Given the description of an element on the screen output the (x, y) to click on. 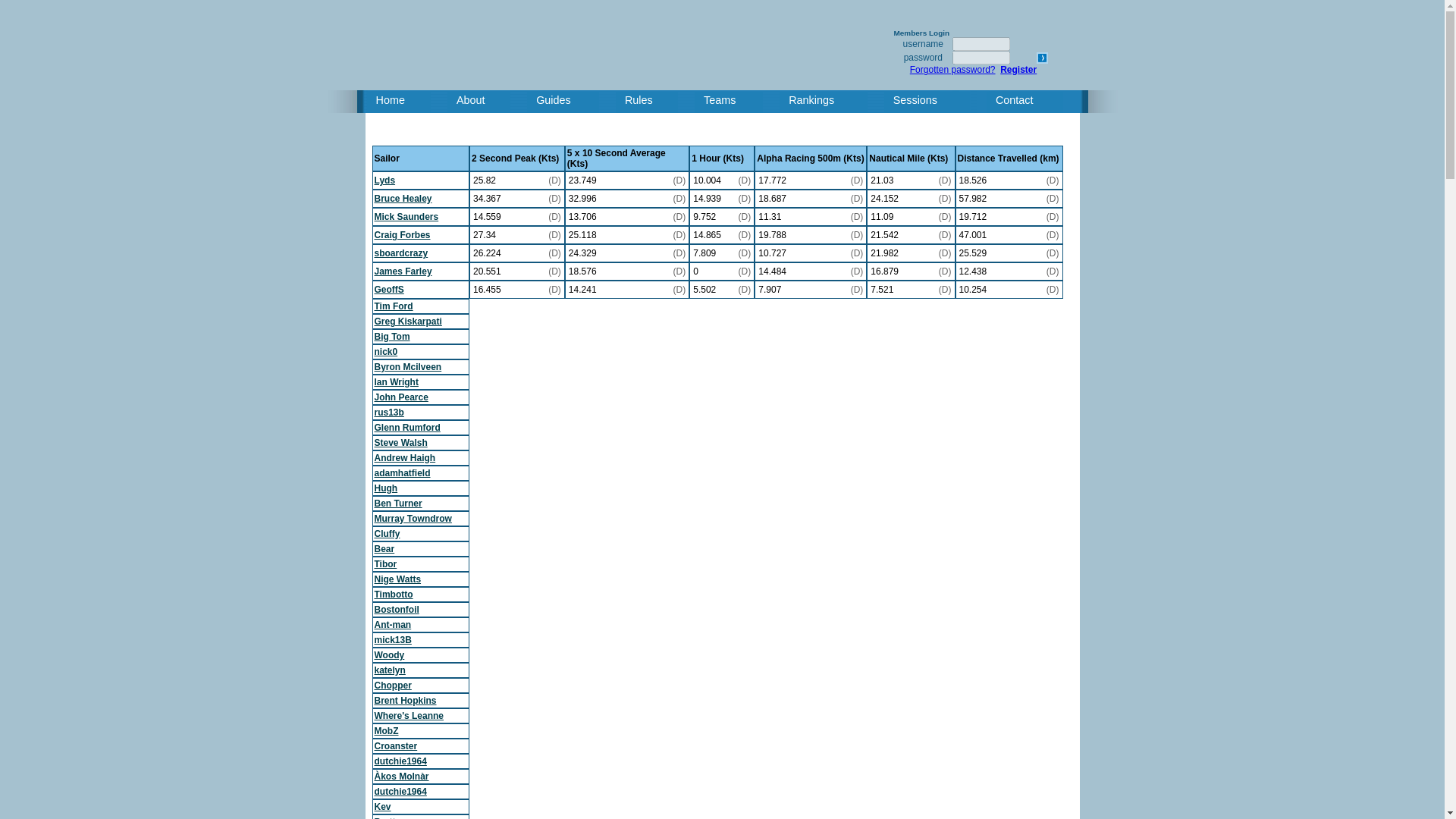
Register (1018, 69)
Rules (650, 101)
Ian Wright (396, 381)
sboardcrazy (401, 253)
adamhatfield (402, 472)
Sessions (930, 101)
GeoffS (389, 289)
Craig Forbes (402, 235)
rus13b (389, 412)
S (1042, 57)
